Given the description of an element on the screen output the (x, y) to click on. 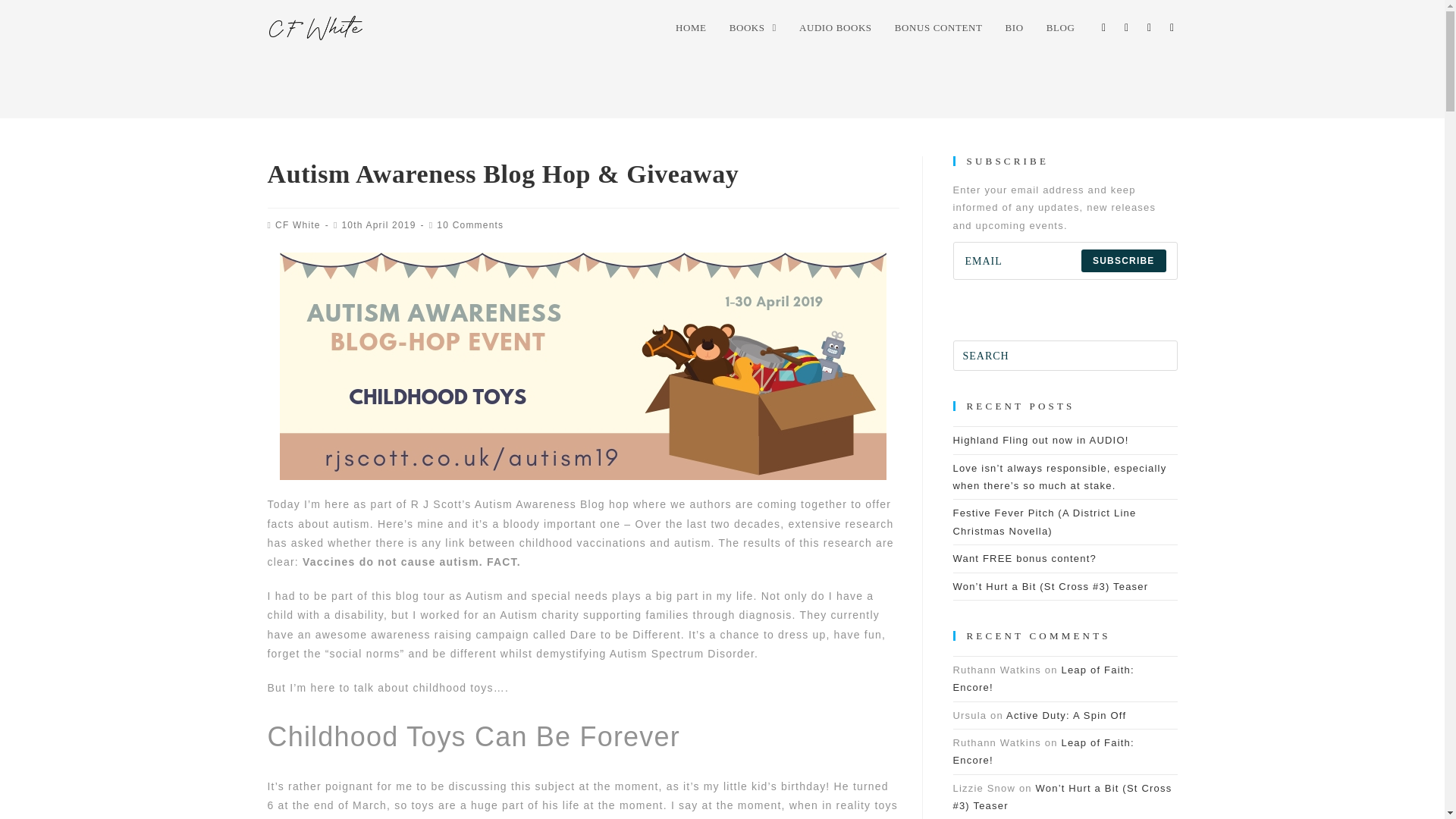
CF White (297, 225)
BONUS CONTENT (938, 28)
HOME (690, 28)
BOOKS (752, 28)
10 Comments (469, 225)
BLOG (1060, 28)
Posts by CF White (297, 225)
AUDIO BOOKS (835, 28)
